Given the description of an element on the screen output the (x, y) to click on. 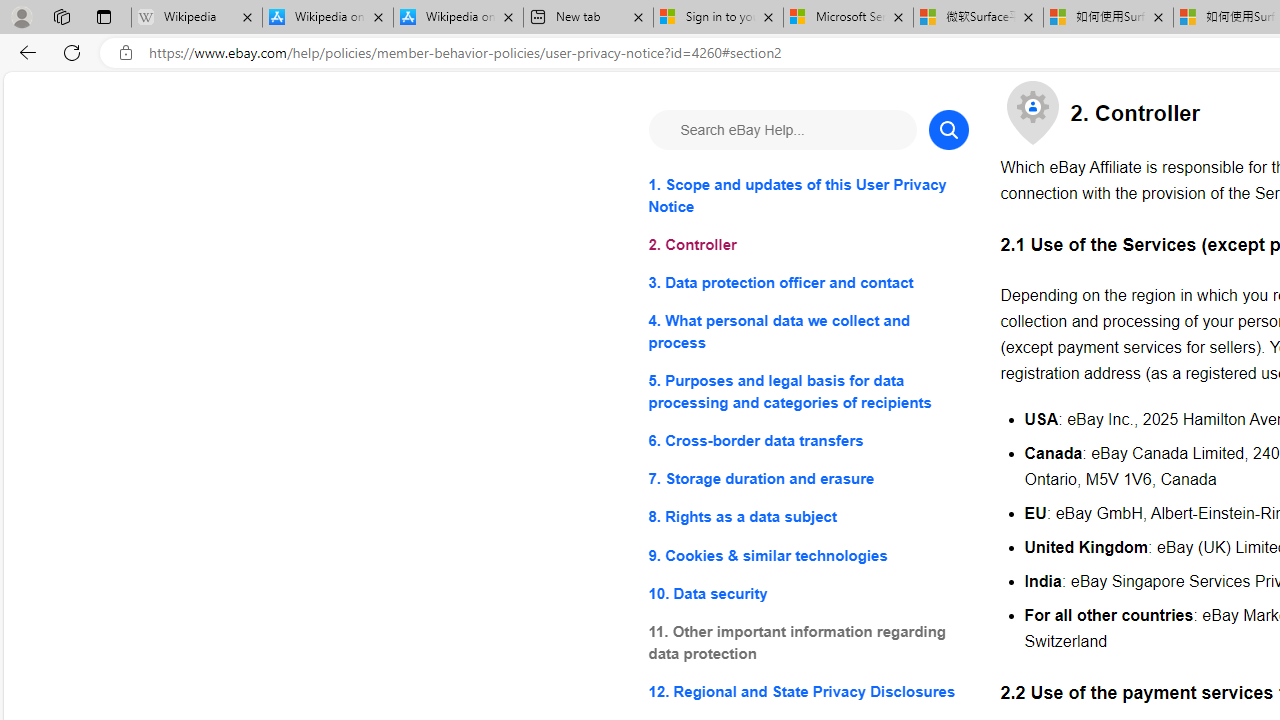
10. Data security (807, 592)
3. Data protection officer and contact (807, 283)
7. Storage duration and erasure (807, 479)
1. Scope and updates of this User Privacy Notice (807, 196)
8. Rights as a data subject (807, 517)
6. Cross-border data transfers (807, 440)
